Given the description of an element on the screen output the (x, y) to click on. 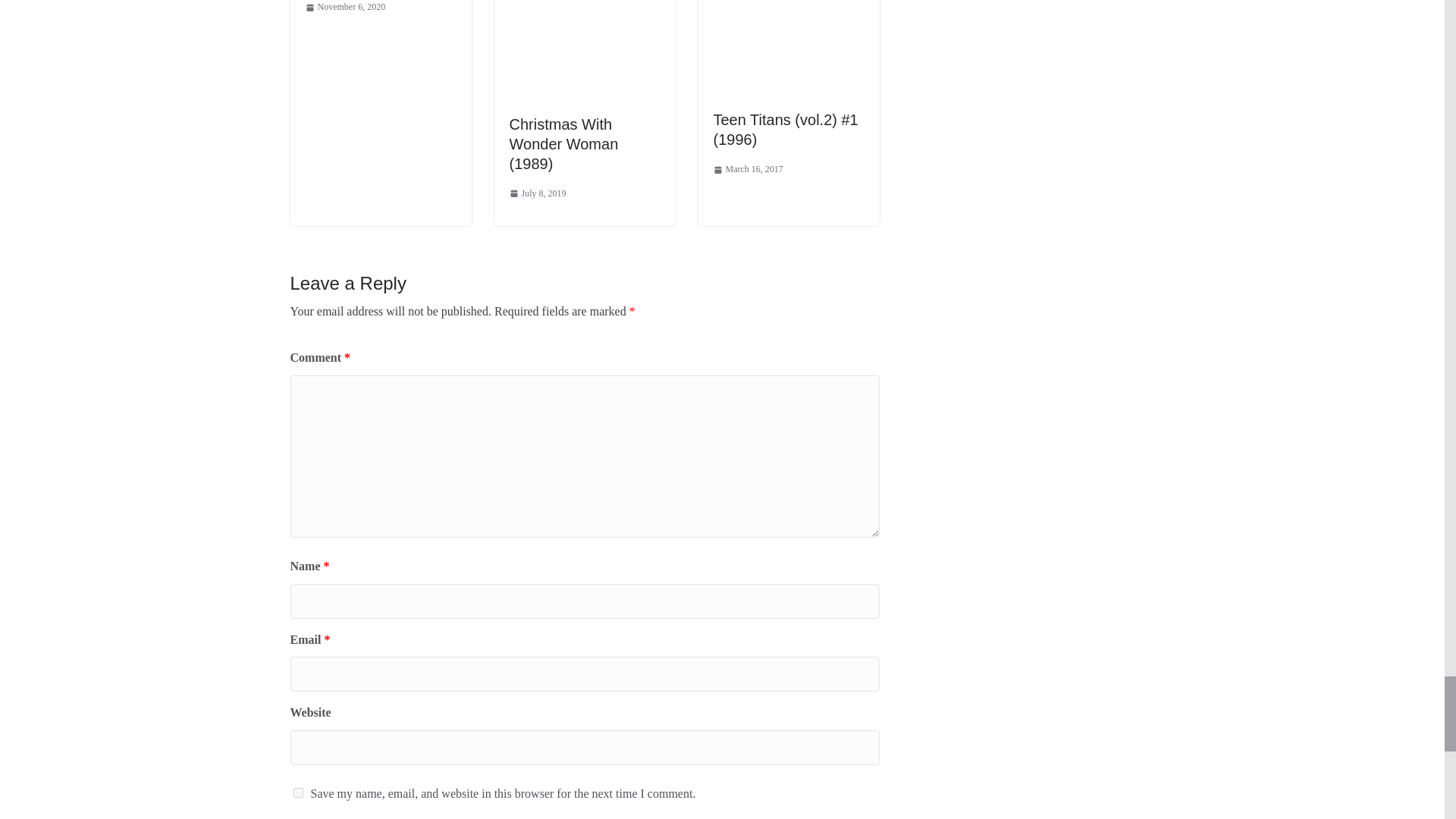
yes (297, 792)
November 6, 2020 (344, 7)
10:00 am (344, 7)
